Given the description of an element on the screen output the (x, y) to click on. 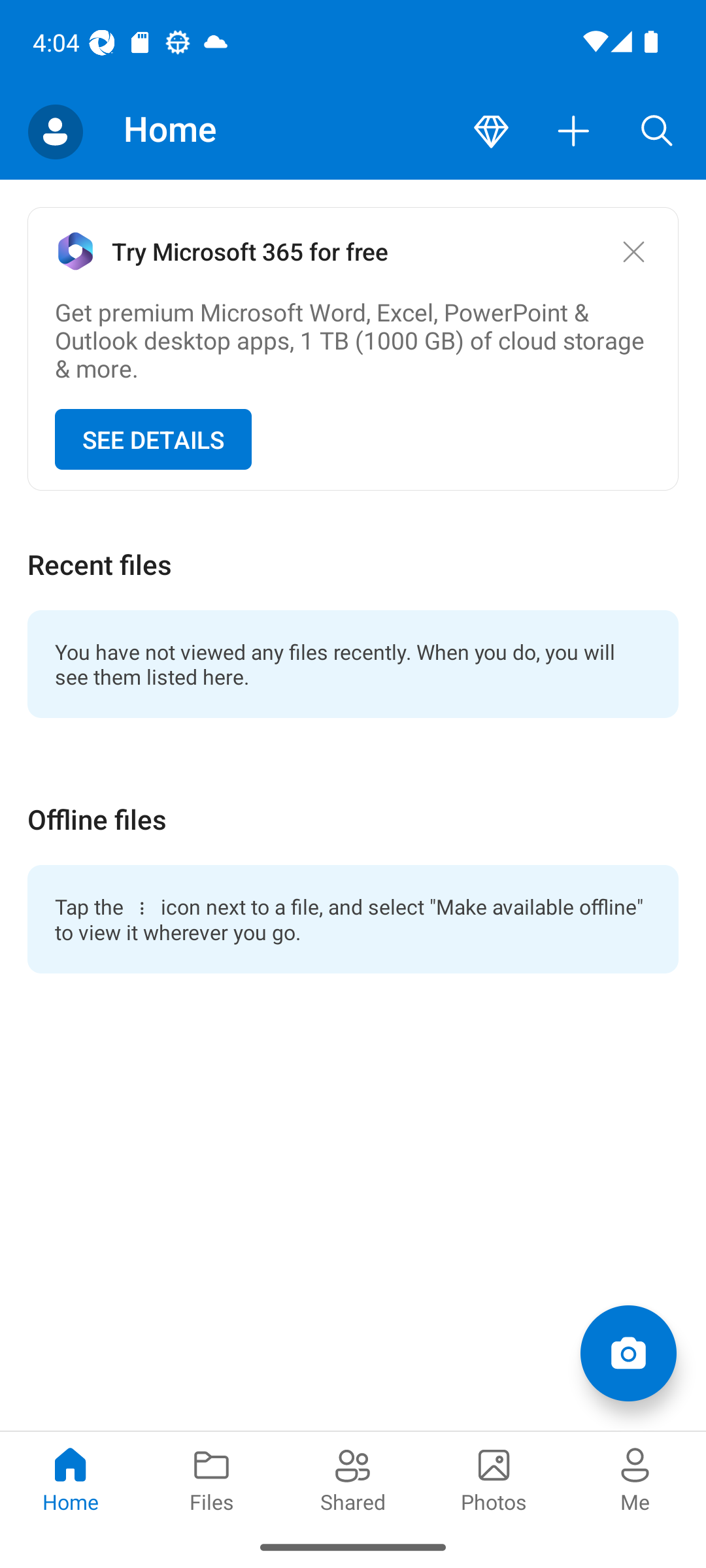
Account switcher (55, 131)
Premium button (491, 131)
More actions button (574, 131)
Search button (656, 131)
Close (633, 251)
SEE DETAILS (153, 439)
Scan (628, 1352)
Files pivot Files (211, 1478)
Shared pivot Shared (352, 1478)
Photos pivot Photos (493, 1478)
Me pivot Me (635, 1478)
